Given the description of an element on the screen output the (x, y) to click on. 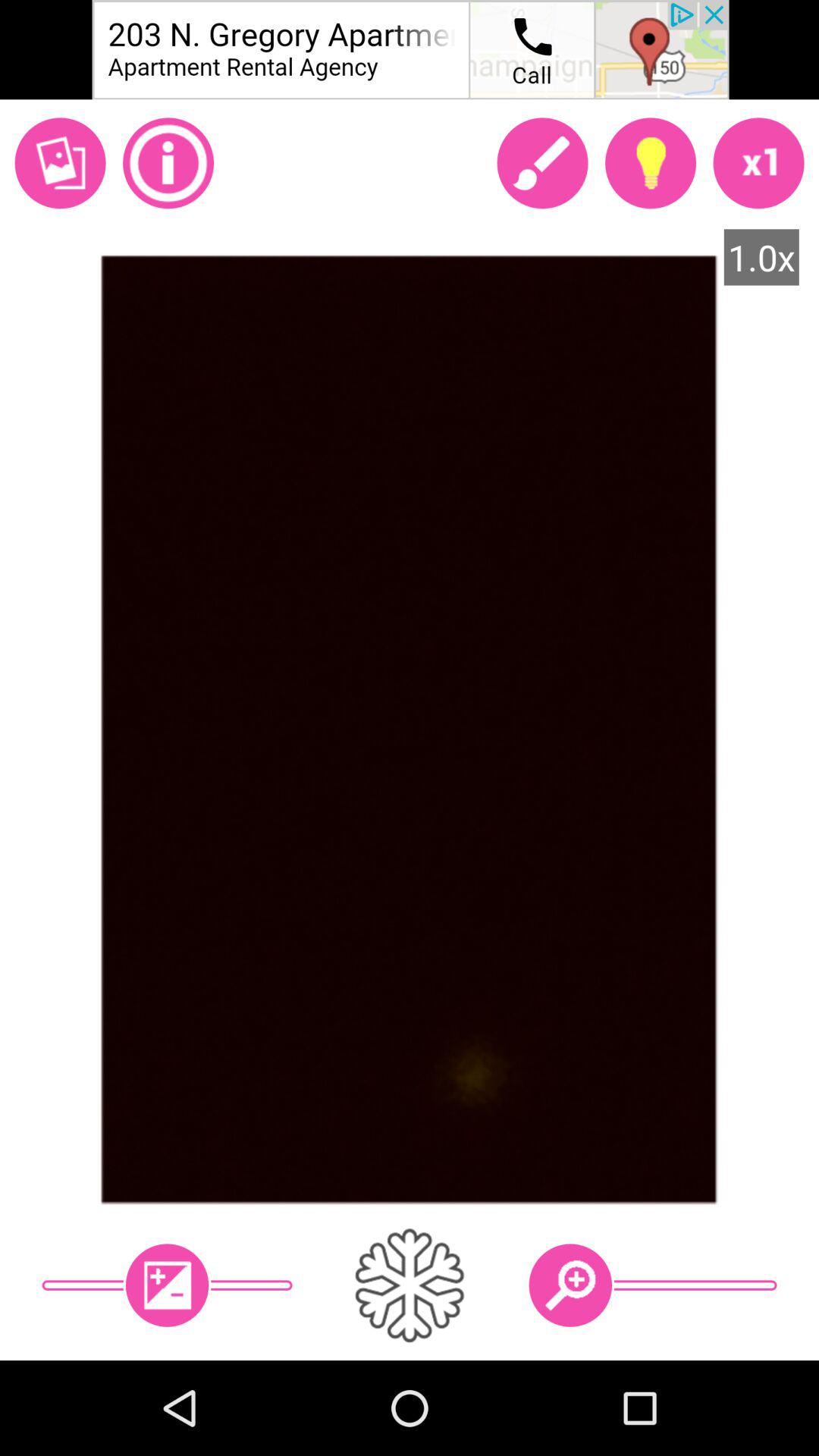
info here (168, 163)
